Given the description of an element on the screen output the (x, y) to click on. 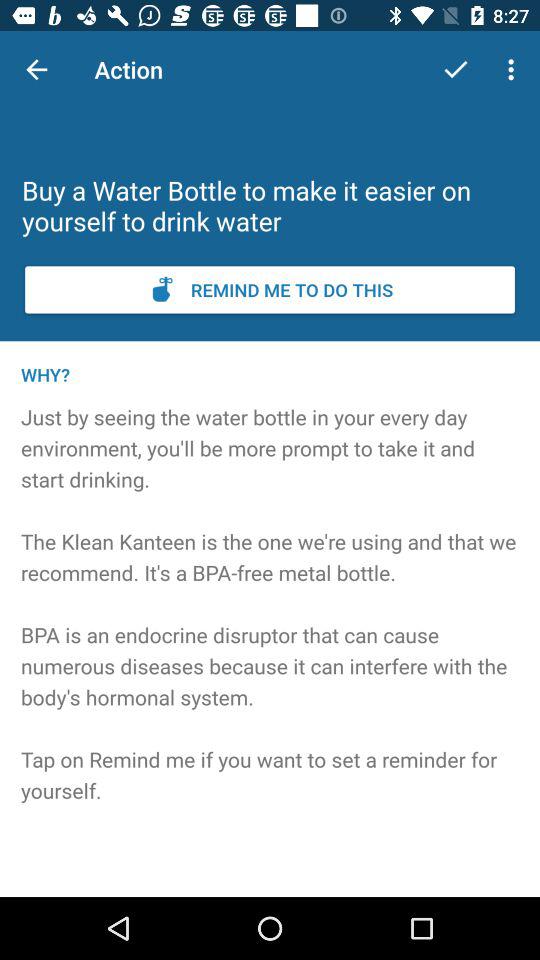
launch icon to the left of action item (36, 69)
